Given the description of an element on the screen output the (x, y) to click on. 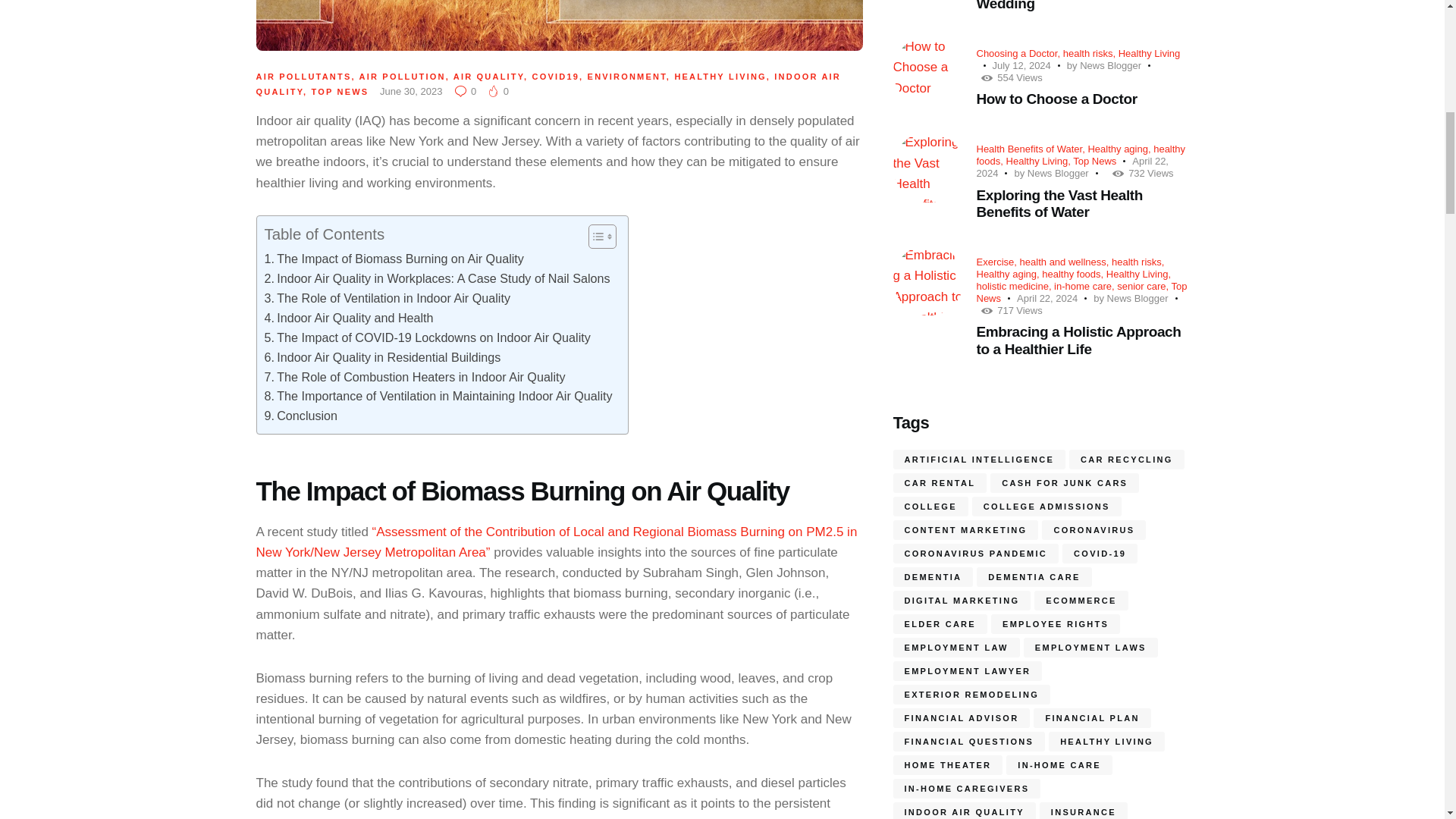
The Impact of COVID-19 Lockdowns on Indoor Air Quality (426, 338)
The Impact of Biomass Burning on Air Quality (392, 259)
The Role of Combustion Heaters in Indoor Air Quality (413, 377)
Conclusion (300, 415)
The Role of Ventilation in Indoor Air Quality (386, 298)
Like (499, 91)
Indoor Air Quality in Residential Buildings (381, 357)
Indoor Air Quality and Health (347, 318)
